Given the description of an element on the screen output the (x, y) to click on. 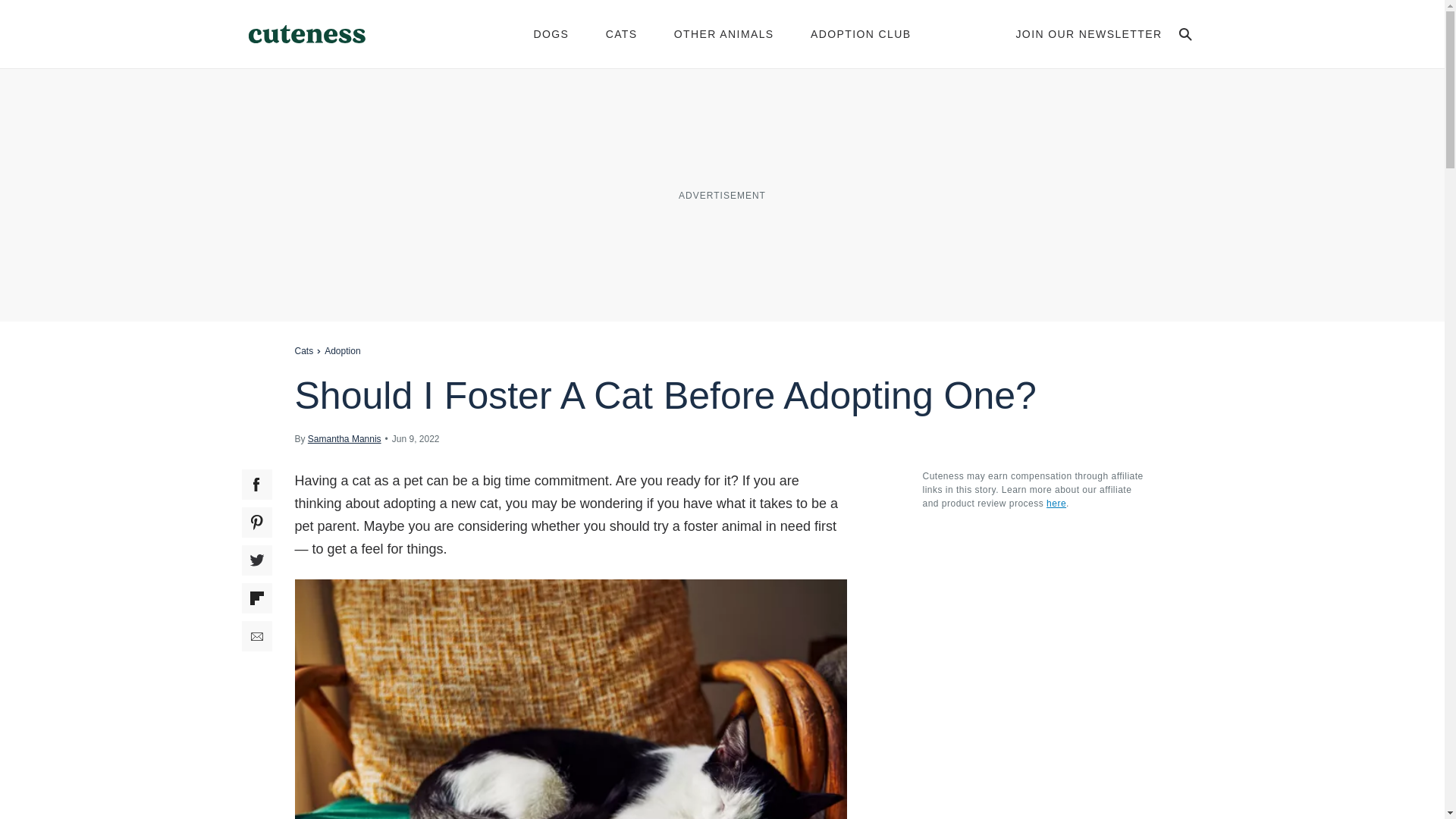
Learn more about our affiliate and product review process (1055, 502)
Samantha Mannis (344, 438)
ADOPTION CLUB (860, 33)
Cats (303, 350)
JOIN OUR NEWSLETTER (1087, 33)
Adoption (341, 350)
